Given the description of an element on the screen output the (x, y) to click on. 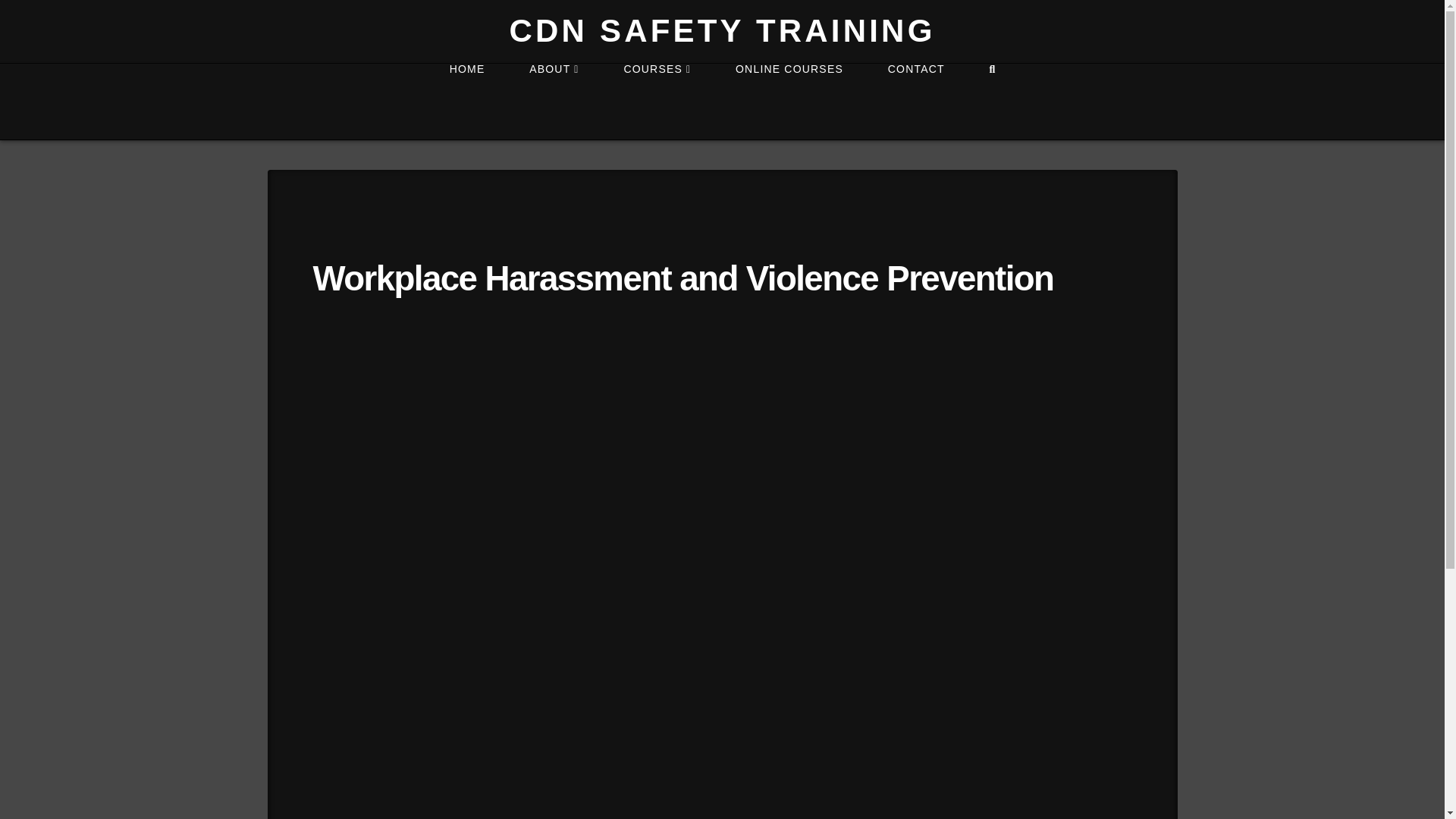
CONTACT (915, 101)
CDN SAFETY TRAINING (721, 30)
COURSES (656, 101)
HOME (466, 101)
ABOUT (552, 101)
ONLINE COURSES (788, 101)
